Given the description of an element on the screen output the (x, y) to click on. 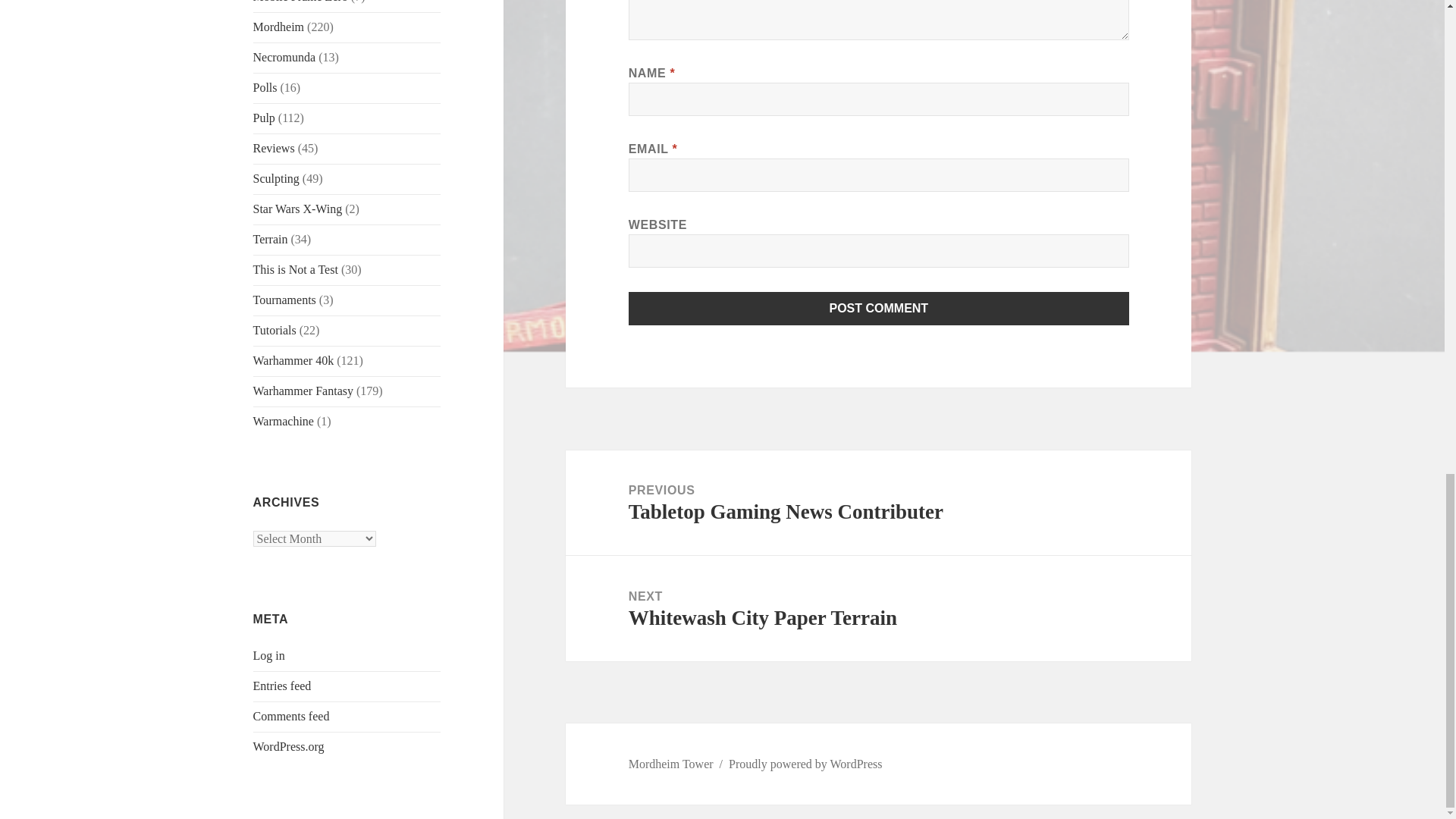
Sculpting (276, 178)
Comments feed (291, 716)
Warhammer 40k (293, 359)
GW's Sci-Fi tabletop game (293, 359)
Tournaments (284, 299)
Warhammer Fantasy (303, 390)
GW's Sci Fi Skirmish tabletop game (284, 56)
GW's Fantasy Skirmish tabletop game (278, 26)
Pulp (264, 117)
Reviews (274, 147)
